Given the description of an element on the screen output the (x, y) to click on. 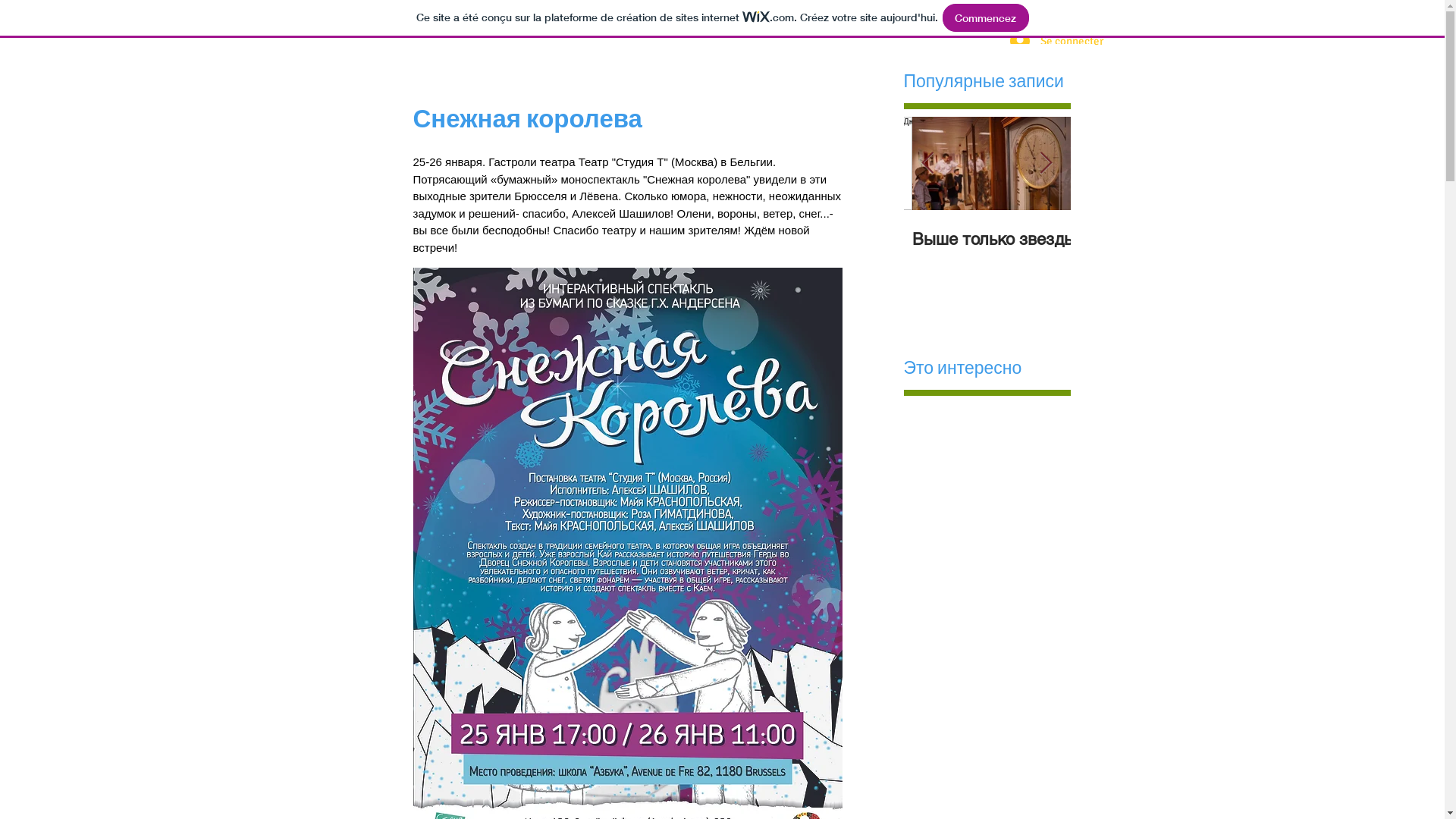
Se connecter Element type: text (1044, 40)
